Given the description of an element on the screen output the (x, y) to click on. 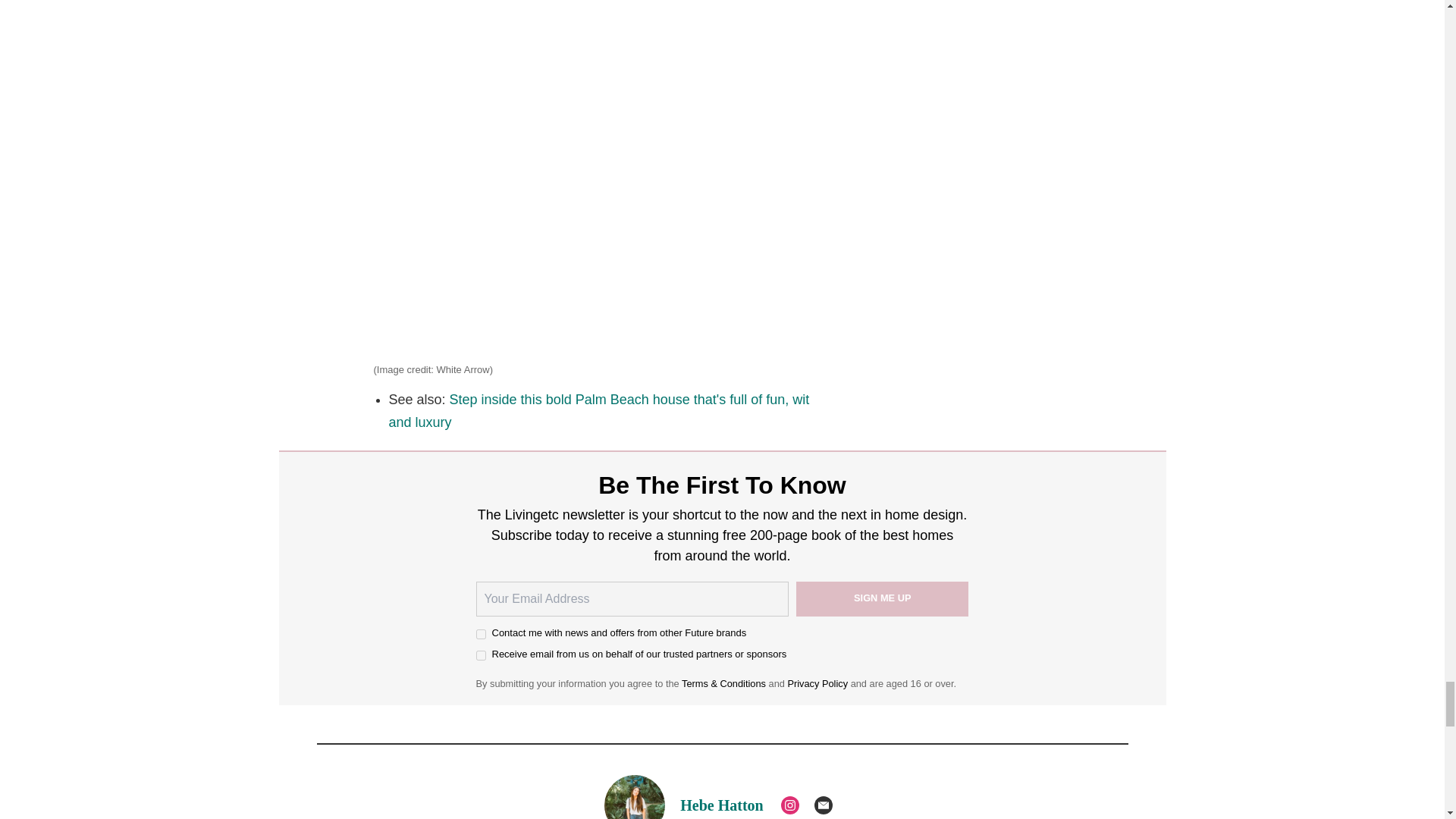
Sign me up (882, 598)
on (481, 655)
on (481, 634)
